Given the description of an element on the screen output the (x, y) to click on. 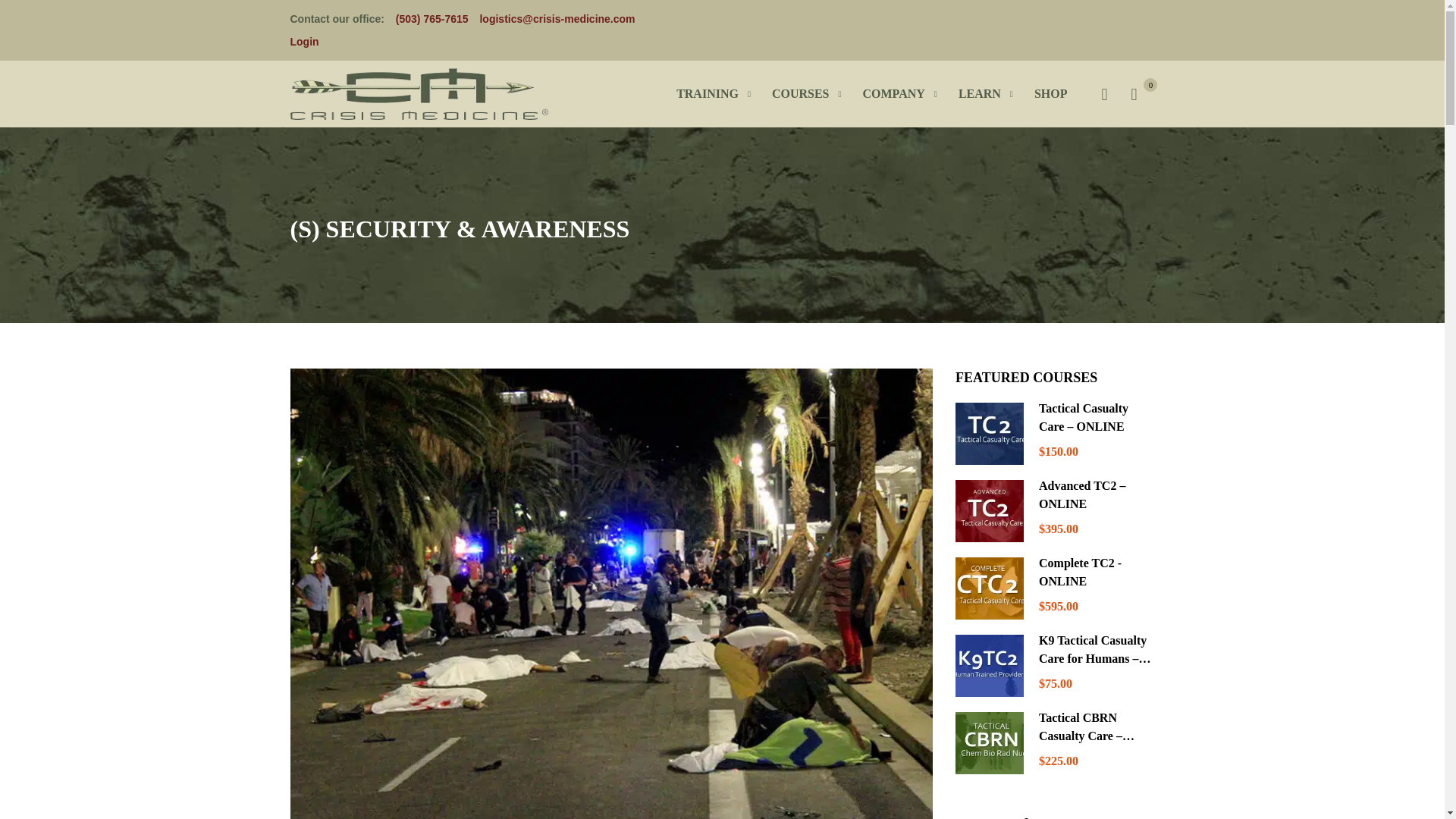
TRAINING (707, 94)
Search (1103, 88)
Login (303, 41)
COMPANY (893, 94)
COURSES (800, 94)
Search (1103, 88)
LEARN (979, 94)
